Given the description of an element on the screen output the (x, y) to click on. 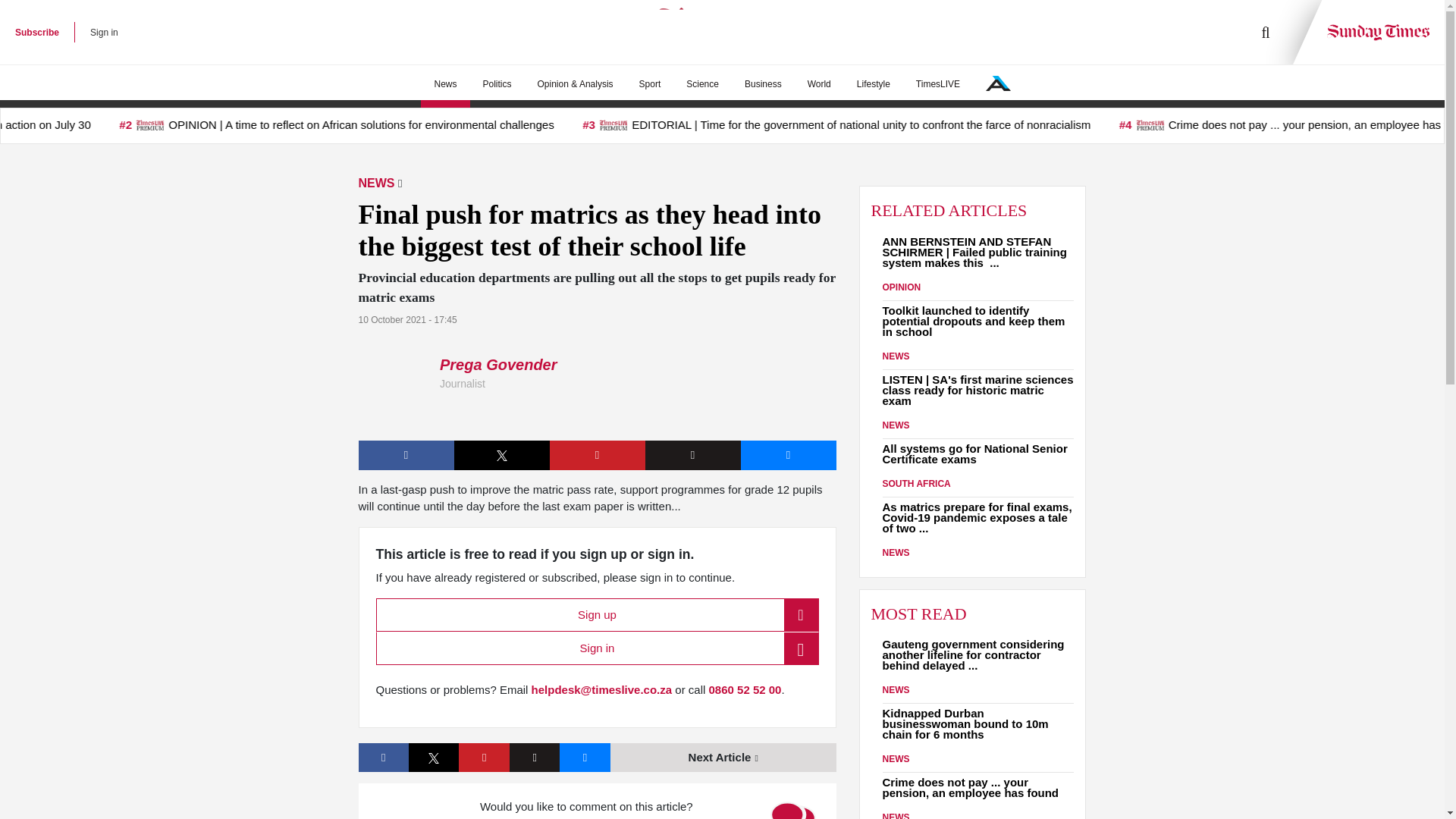
Lifestyle (873, 84)
News (444, 84)
Science (702, 84)
Our Network (997, 83)
Subscribe (36, 32)
Business (763, 84)
Politics (497, 84)
Sign in (103, 32)
TimesLIVE (937, 84)
World (819, 84)
Sport (650, 84)
Olympic schedule: South Africans in action on July 30 (110, 125)
